Given the description of an element on the screen output the (x, y) to click on. 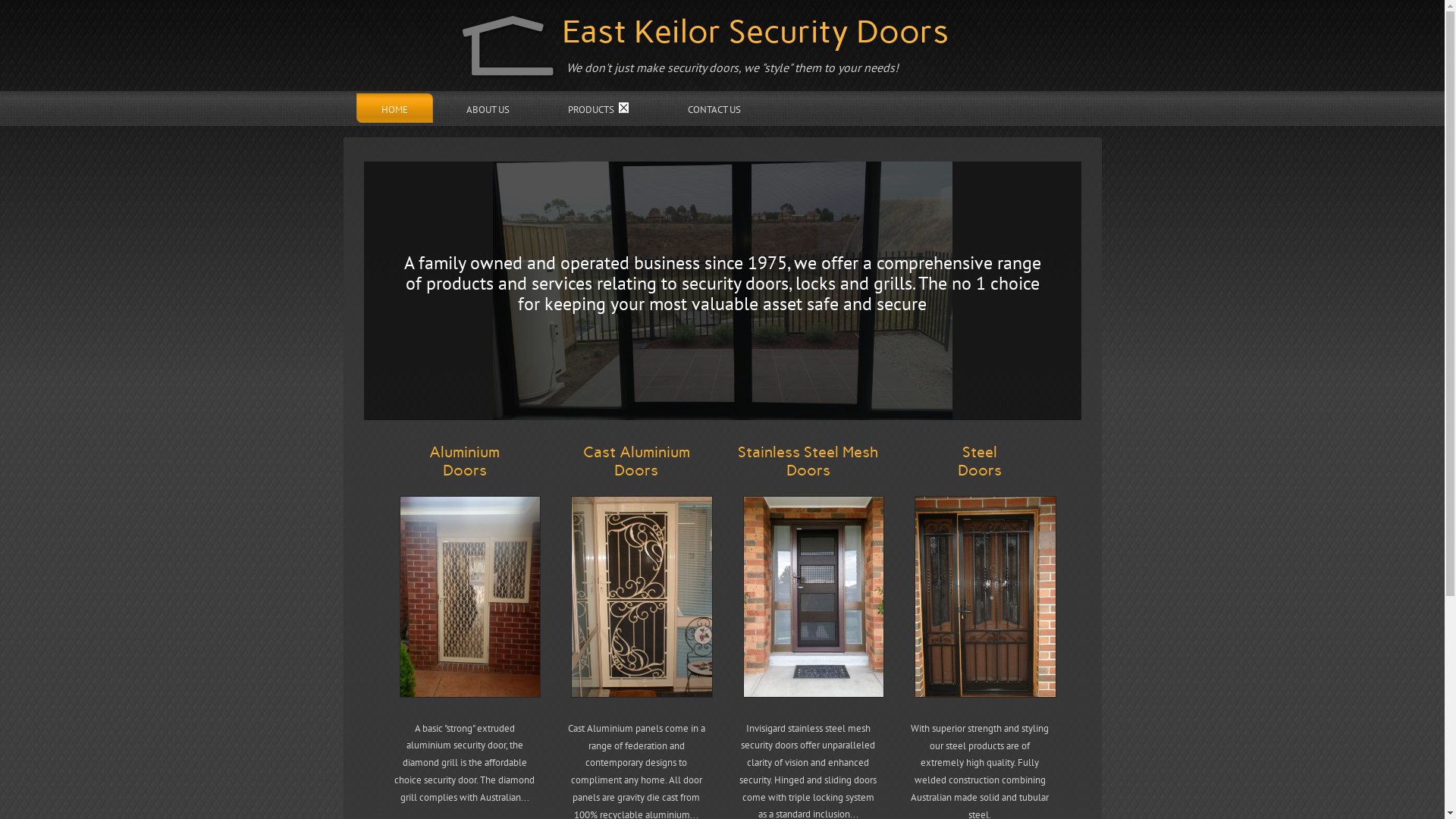
DSCF0364 Element type: hover (641, 596)
DSCF0123 Element type: hover (985, 596)
Steel
Doors Element type: text (979, 460)
CONTACT US Element type: text (713, 107)
Cast Aluminium Doors Element type: text (636, 460)
Aluminium
Doors Element type: text (464, 460)
East Keilor Security Doors Element type: text (754, 31)
HOME Element type: text (394, 107)
20160224_072331 Element type: hover (469, 596)
20160421_083103 Element type: hover (813, 596)
PRODUCTS Element type: text (598, 107)
ABOUT US Element type: text (487, 107)
Stainless Steel Mesh Doors Element type: text (807, 460)
